Given the description of an element on the screen output the (x, y) to click on. 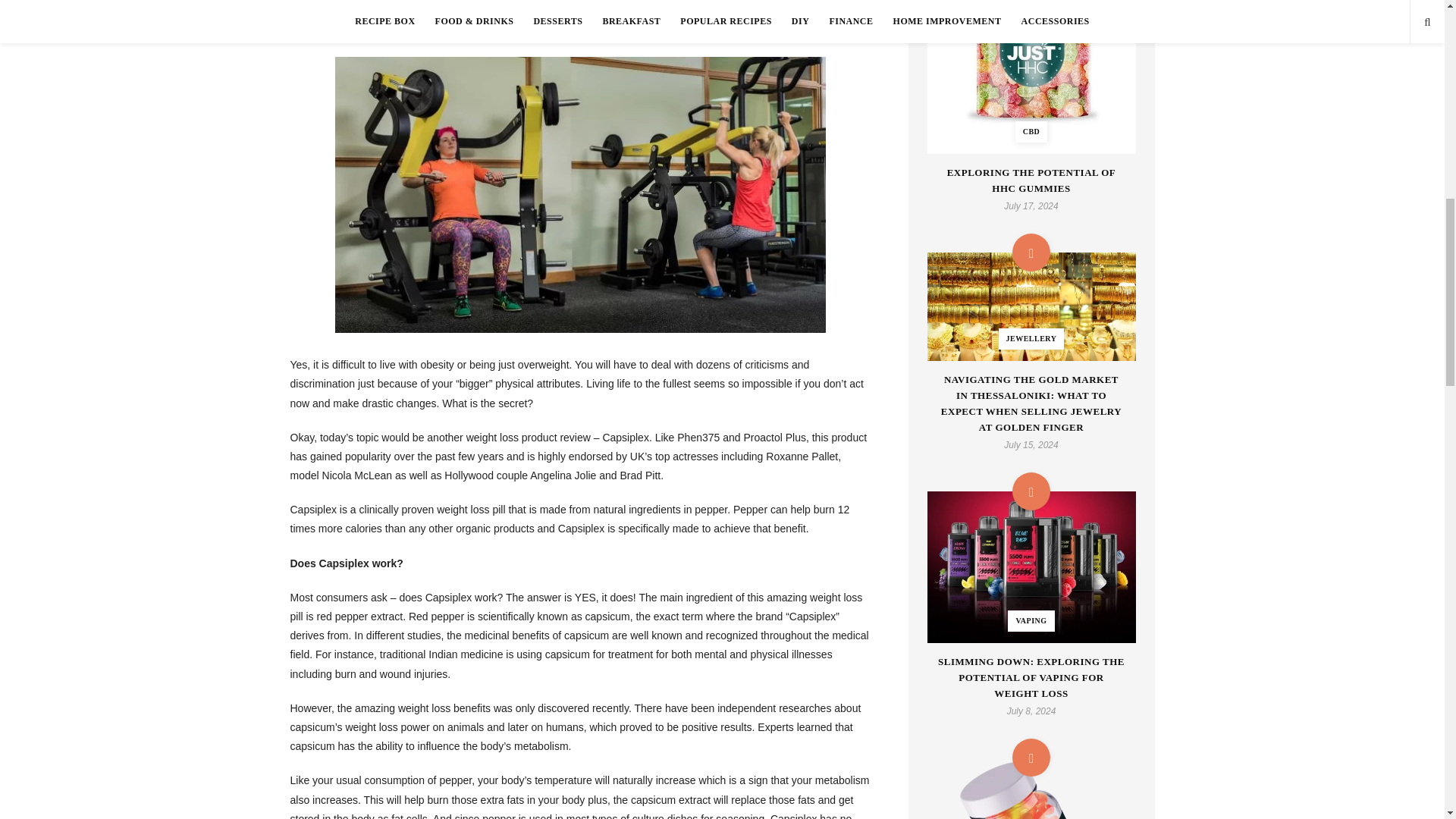
EXPLORING THE POTENTIAL OF HHC GUMMIES (1031, 181)
CBD (1030, 76)
JEWELLERY (1030, 306)
Permanent Link: Exploring The Potential Of HHC Gummies (1031, 181)
Permanent Link: Exploring The Potential Of HHC Gummies (1030, 76)
